Given the description of an element on the screen output the (x, y) to click on. 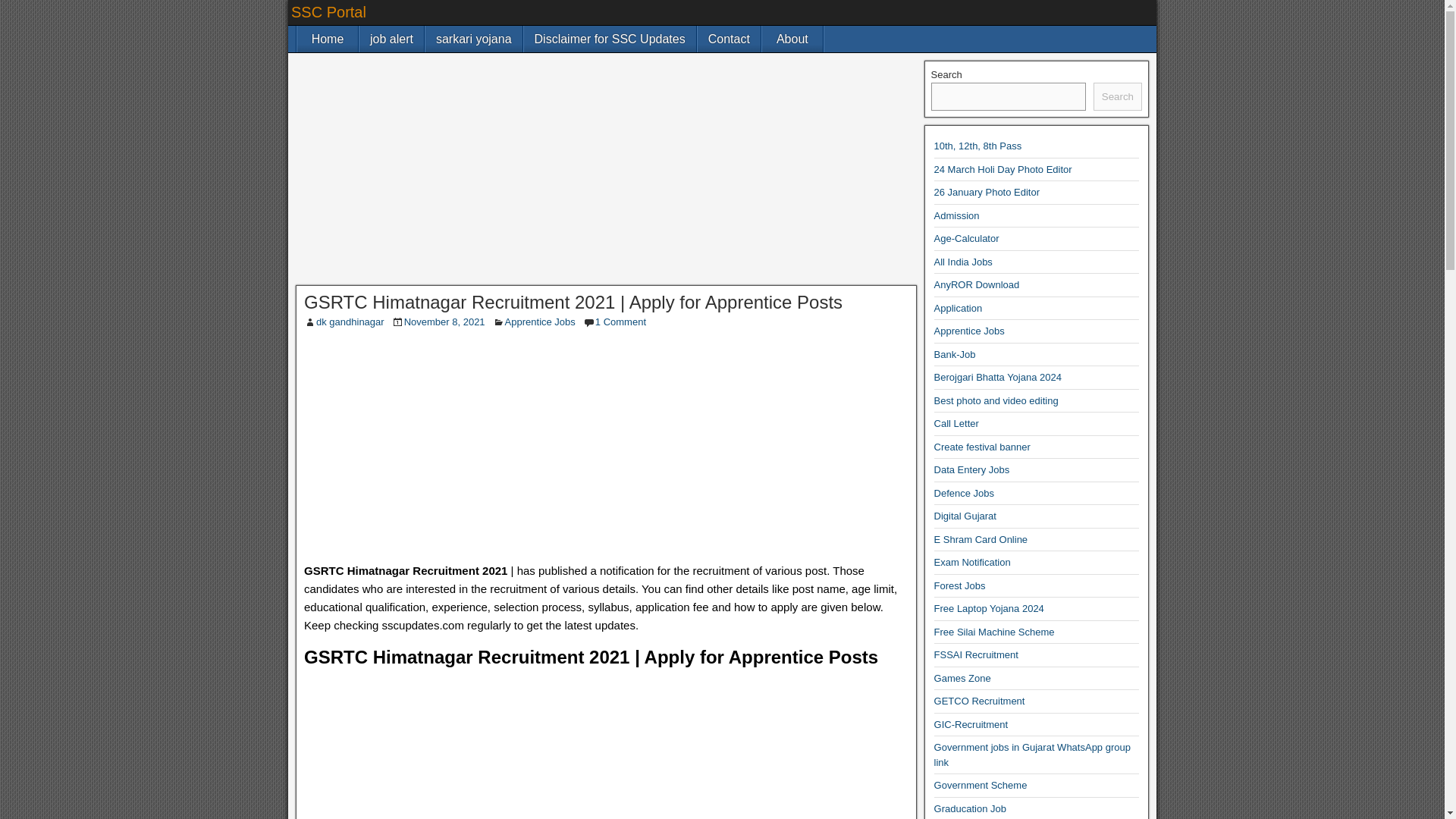
Admission (956, 215)
sarkari yojana (473, 38)
Home (327, 38)
Search (1117, 96)
26 January Photo Editor (986, 192)
About (791, 38)
job alert (391, 38)
Contact (728, 38)
Advertisement (606, 449)
November 8, 2021 (444, 321)
